Given the description of an element on the screen output the (x, y) to click on. 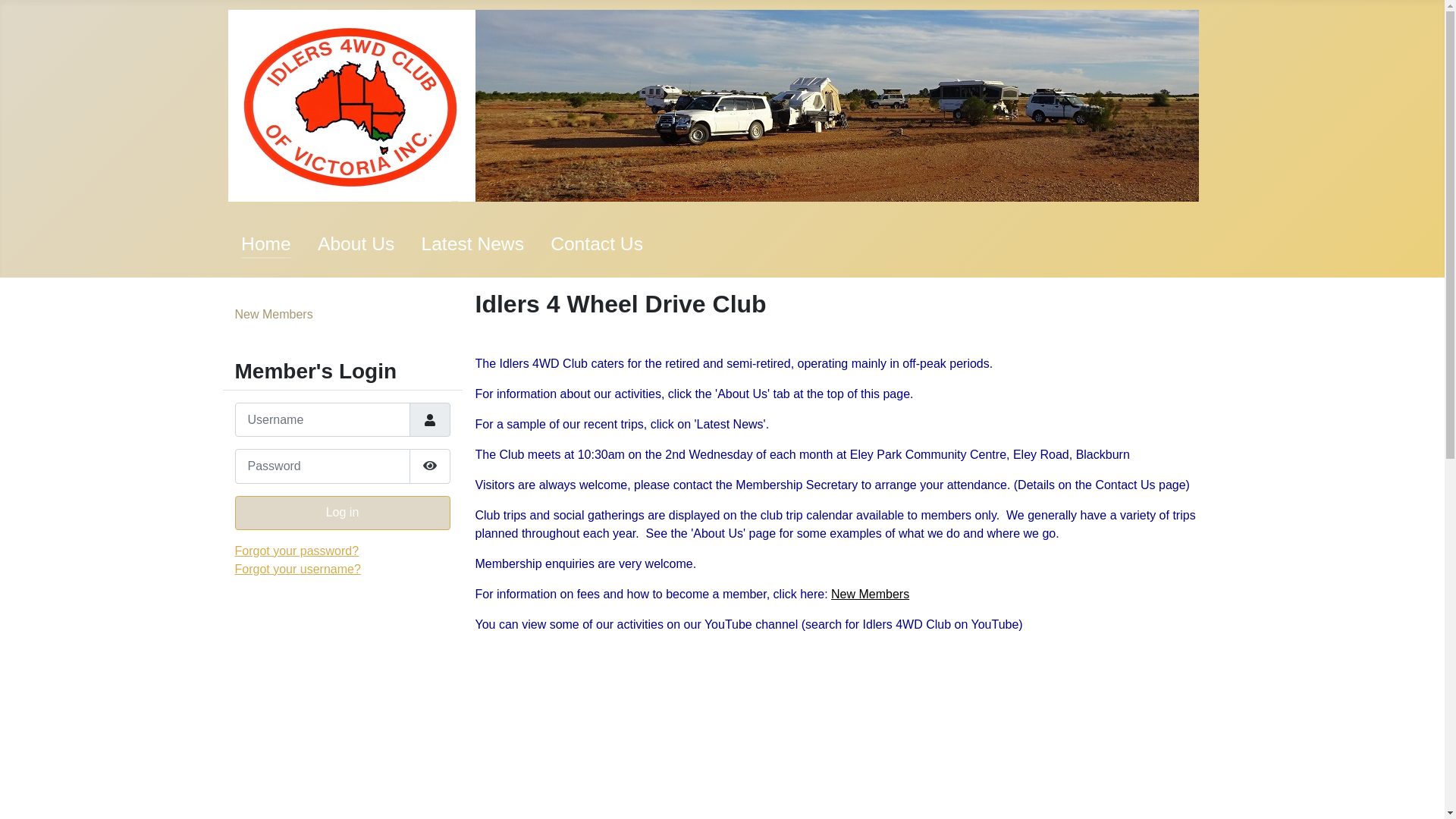
About Us Element type: text (355, 244)
Latest News Element type: text (472, 244)
Log in Element type: text (342, 512)
Contact Us Element type: text (596, 244)
Forgot your password? Element type: text (297, 550)
Forgot your username? Element type: text (297, 568)
New Members Element type: text (870, 593)
Show Password Element type: text (429, 465)
New Members Element type: text (274, 313)
Username Element type: hover (429, 419)
Home Element type: text (266, 244)
